Given the description of an element on the screen output the (x, y) to click on. 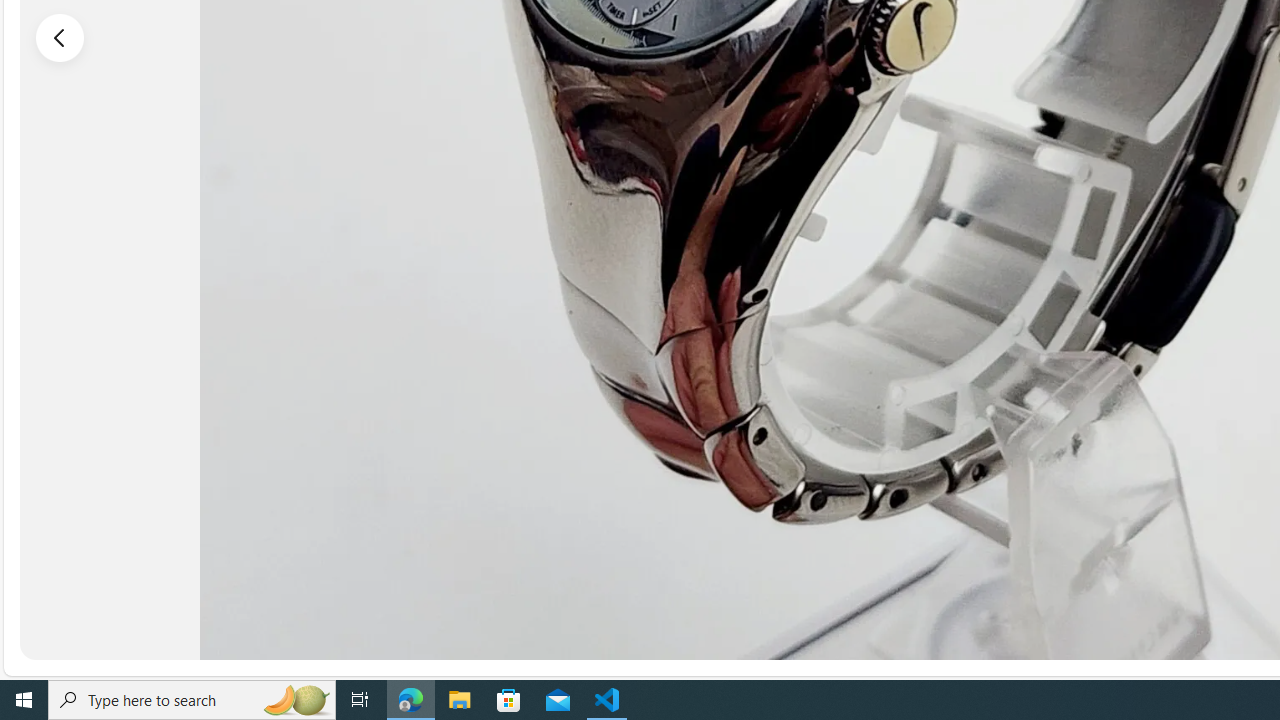
Previous image - Item images thumbnails (59, 37)
